Given the description of an element on the screen output the (x, y) to click on. 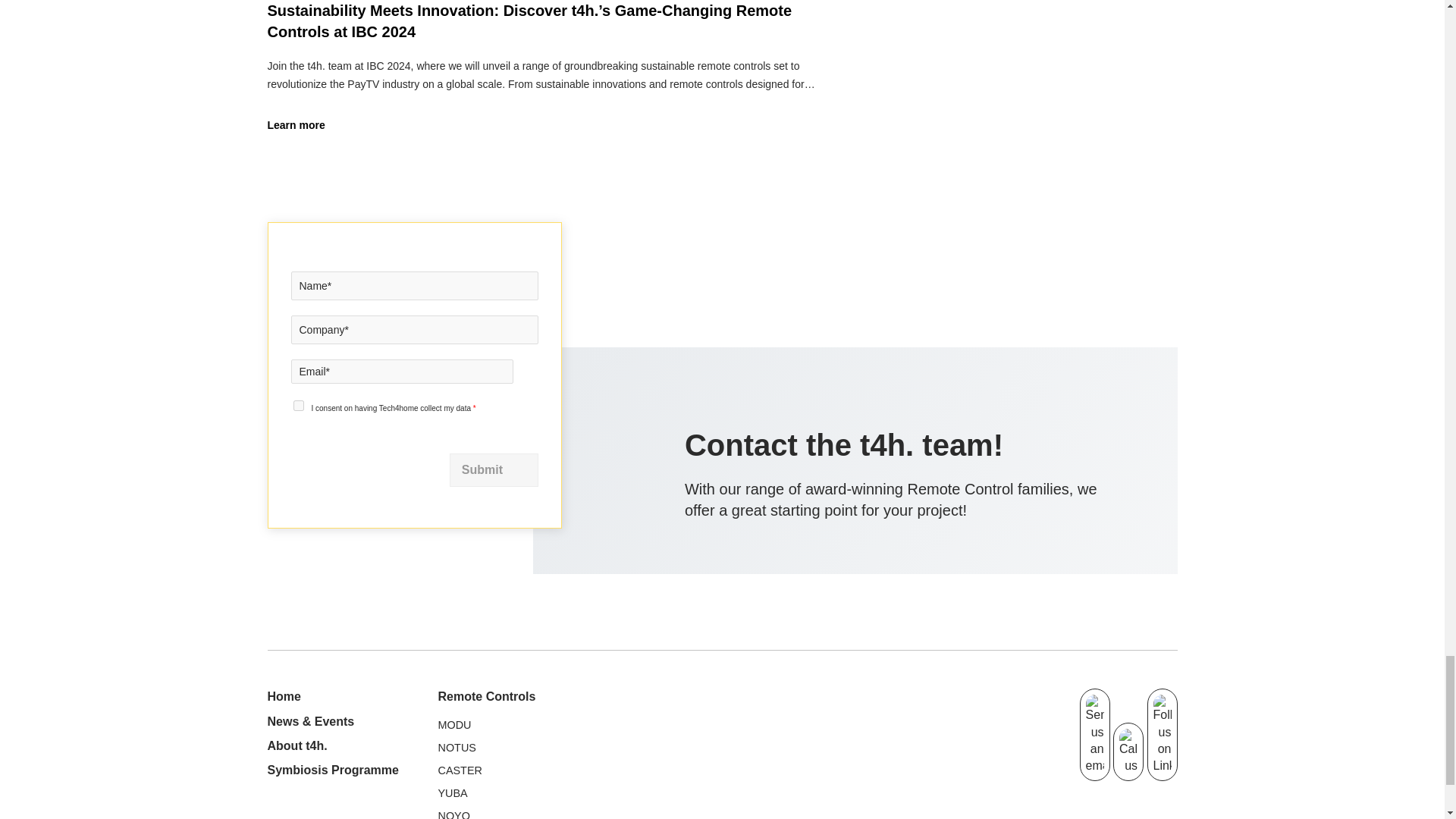
CASTER (459, 770)
Remote Controls (486, 696)
Home (282, 696)
CASTER (459, 770)
Learn more (306, 125)
NOYO (454, 814)
Symbiosis Programme (331, 769)
MODU (454, 725)
NOTUS (457, 747)
YUBA (452, 793)
